Given the description of an element on the screen output the (x, y) to click on. 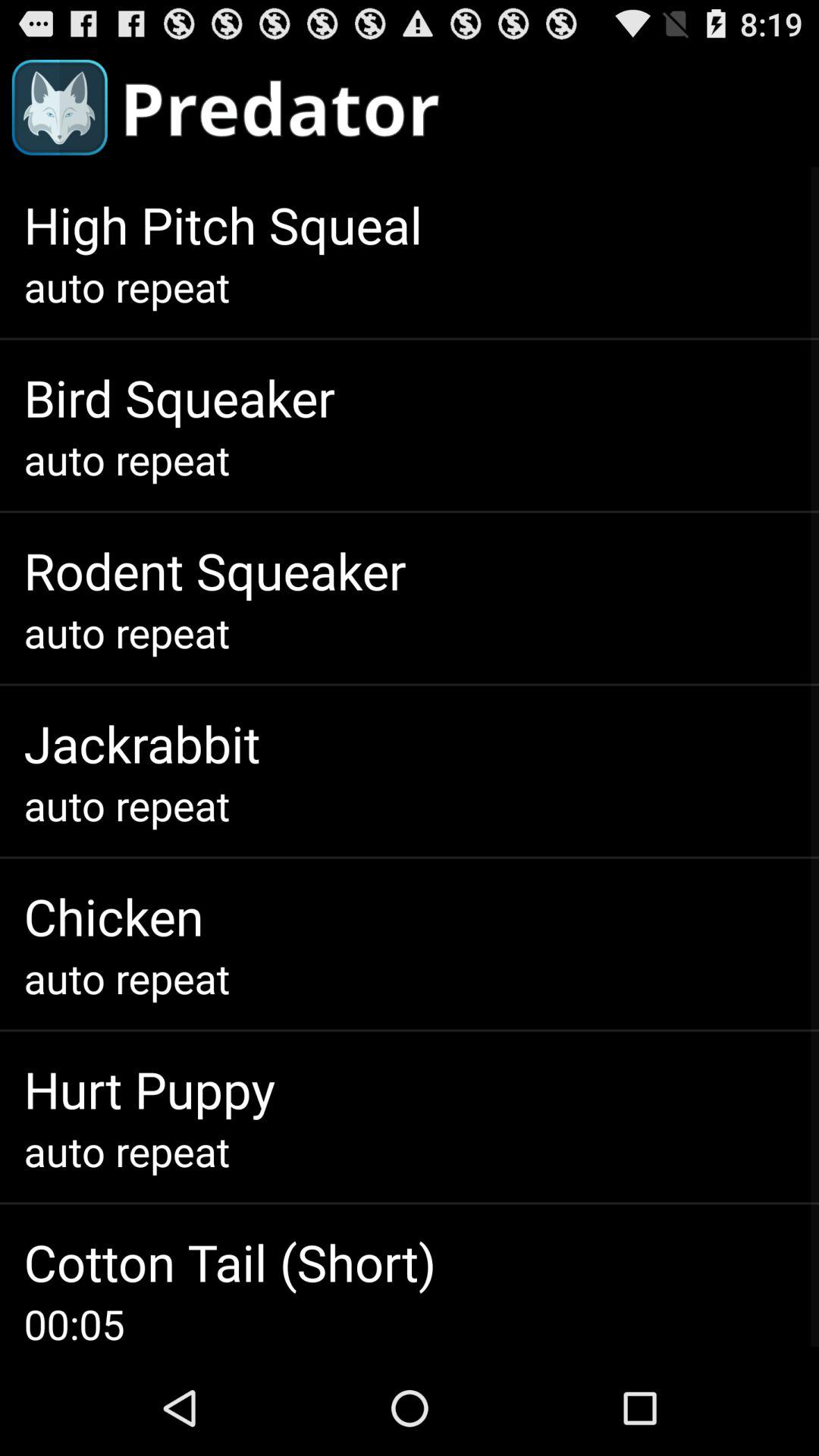
flip until cotton tail (short) app (229, 1262)
